Given the description of an element on the screen output the (x, y) to click on. 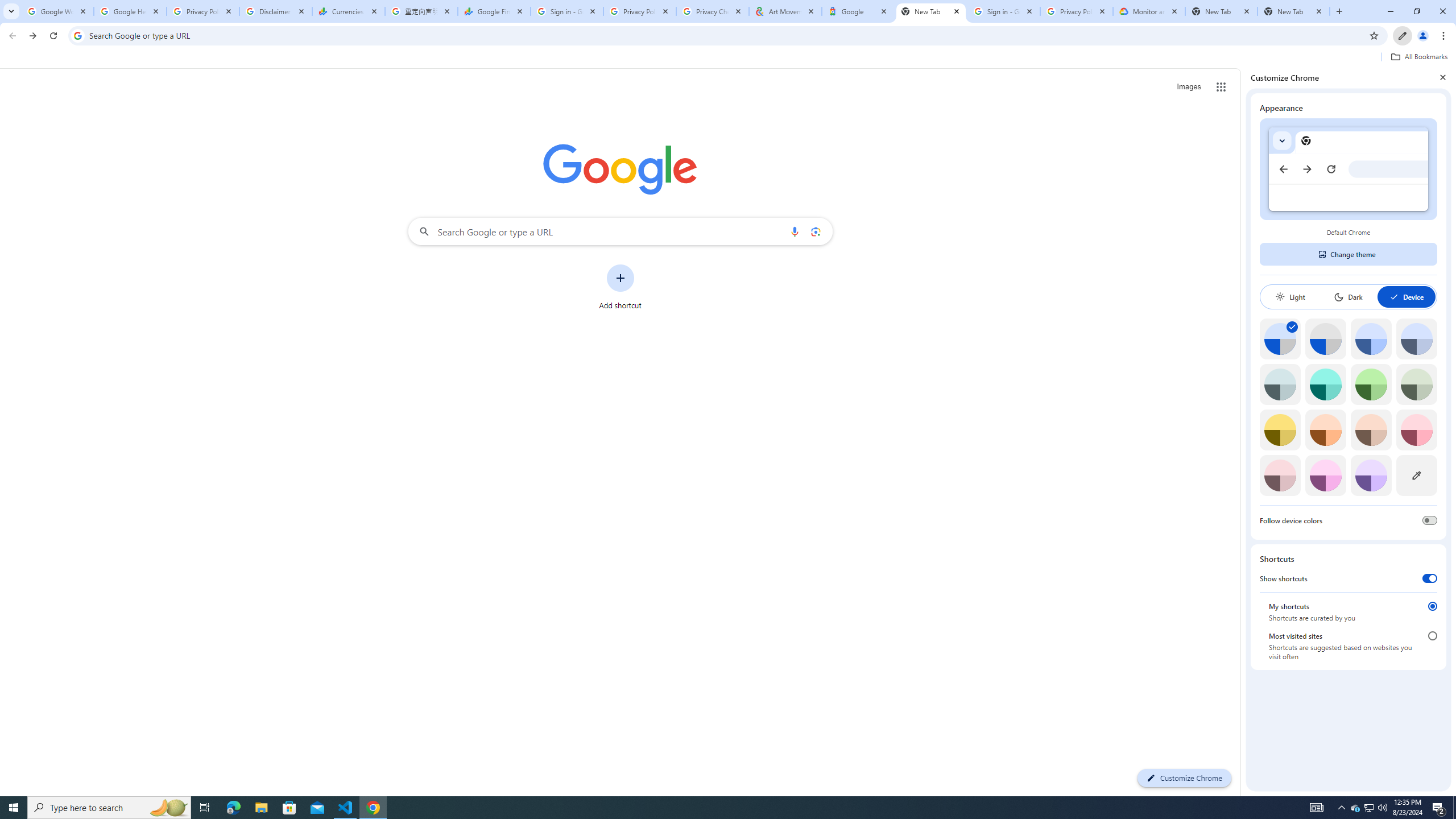
New Tab (930, 11)
Search by voice (794, 230)
Change theme (1348, 254)
New Tab (1293, 11)
Violet (1371, 475)
Show shortcuts (1429, 578)
Orange (1325, 429)
Pink (1279, 475)
AutomationID: svg (1292, 326)
Grey default color (1325, 338)
Blue (1371, 338)
All Bookmarks (1418, 56)
Privacy Checkup (712, 11)
